Given the description of an element on the screen output the (x, y) to click on. 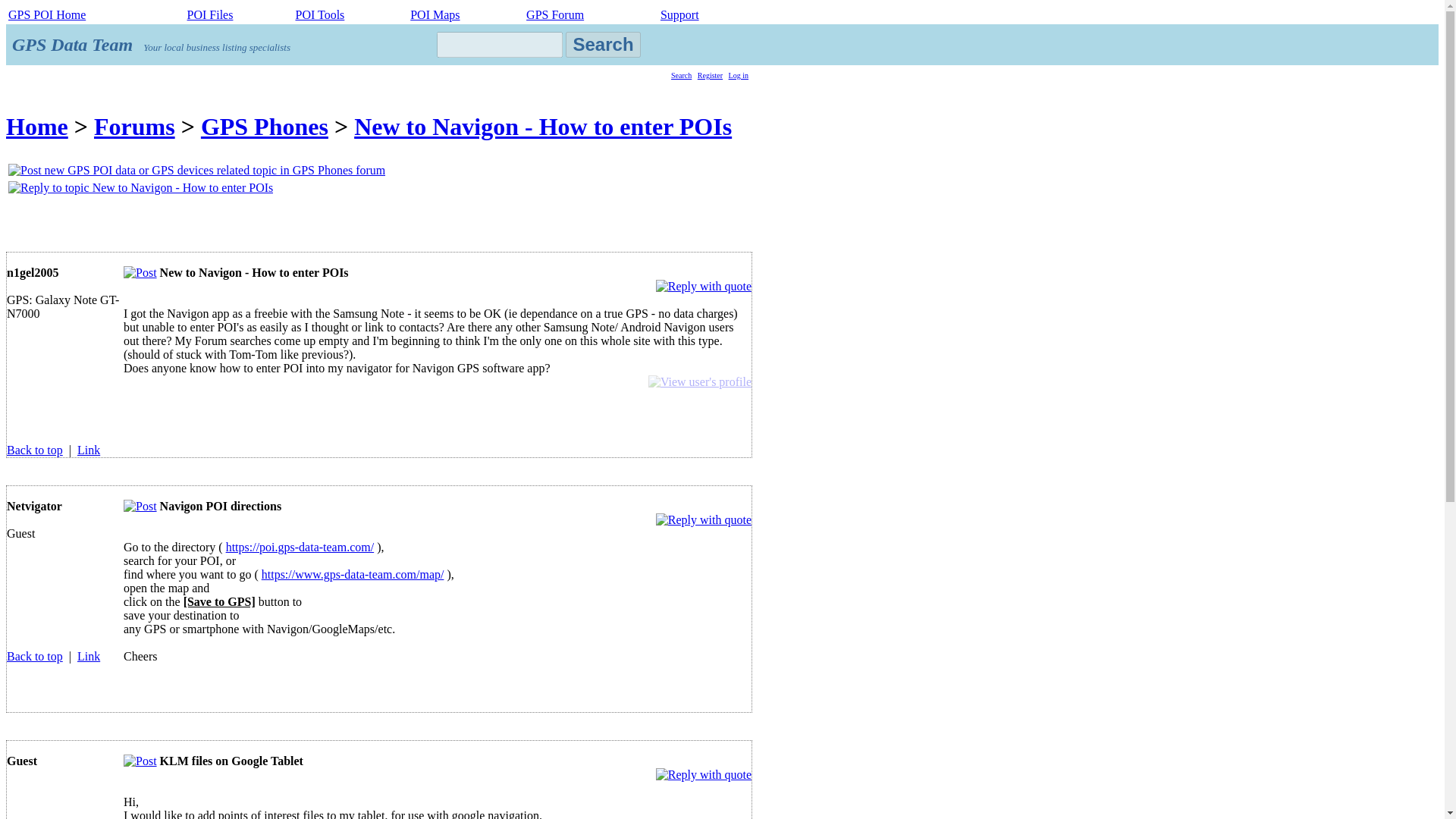
POI Files (209, 14)
GPS Forum (554, 14)
GPS POI Home (46, 14)
Link (88, 449)
POI maps (435, 14)
GPS Phones (264, 126)
Reply with quote (703, 520)
Installation support (679, 14)
View user's profile (699, 382)
Home (36, 126)
POI Home (46, 14)
New to Navigon - How to enter POIs in GPS Phones forum (140, 273)
Link to this post (88, 449)
Back to top (34, 656)
Link (88, 656)
